Given the description of an element on the screen output the (x, y) to click on. 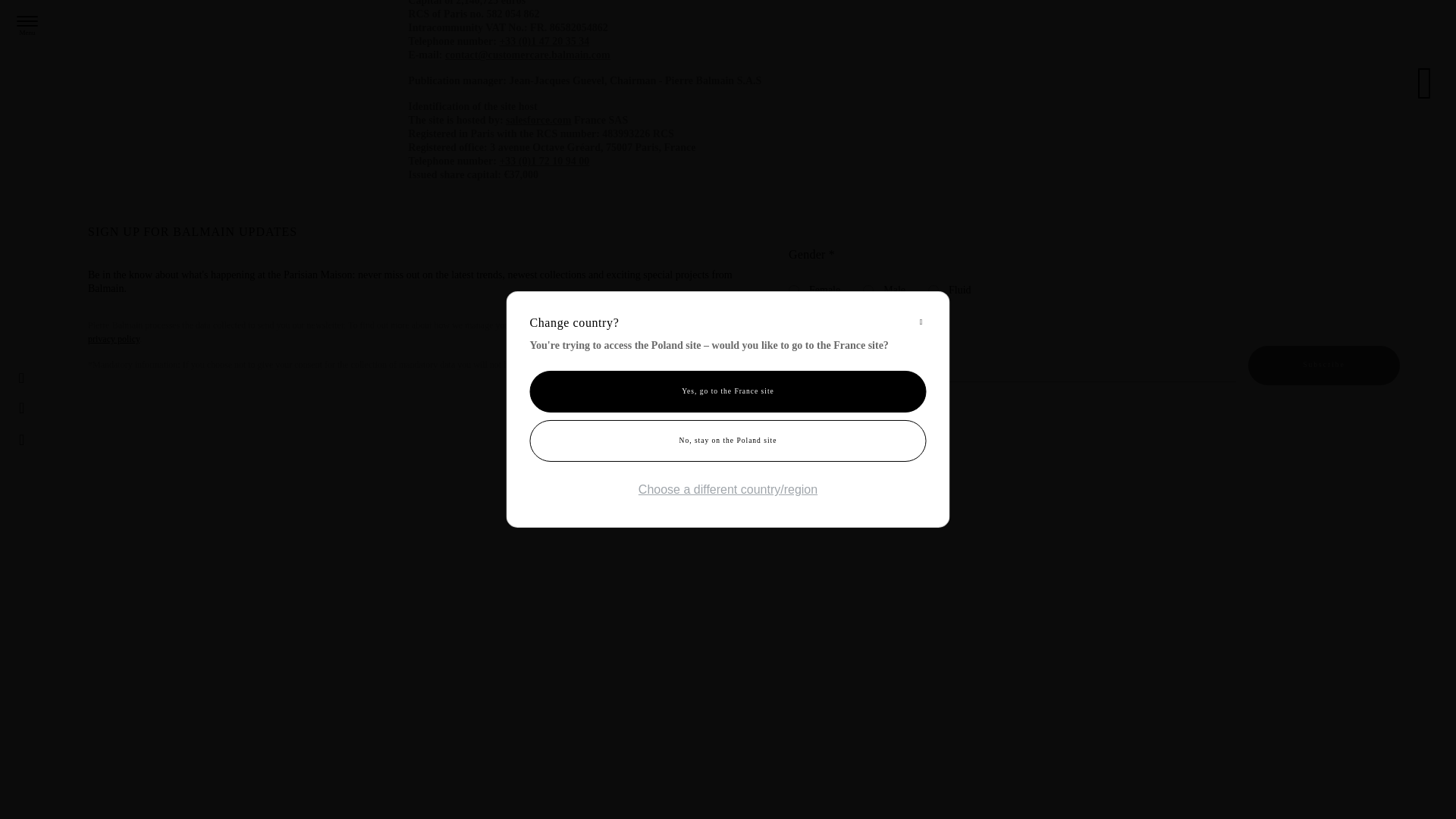
1 (868, 290)
Search (26, 98)
3 (933, 290)
2 (794, 290)
Shopping bag: 0 Items (56, 130)
